Given the description of an element on the screen output the (x, y) to click on. 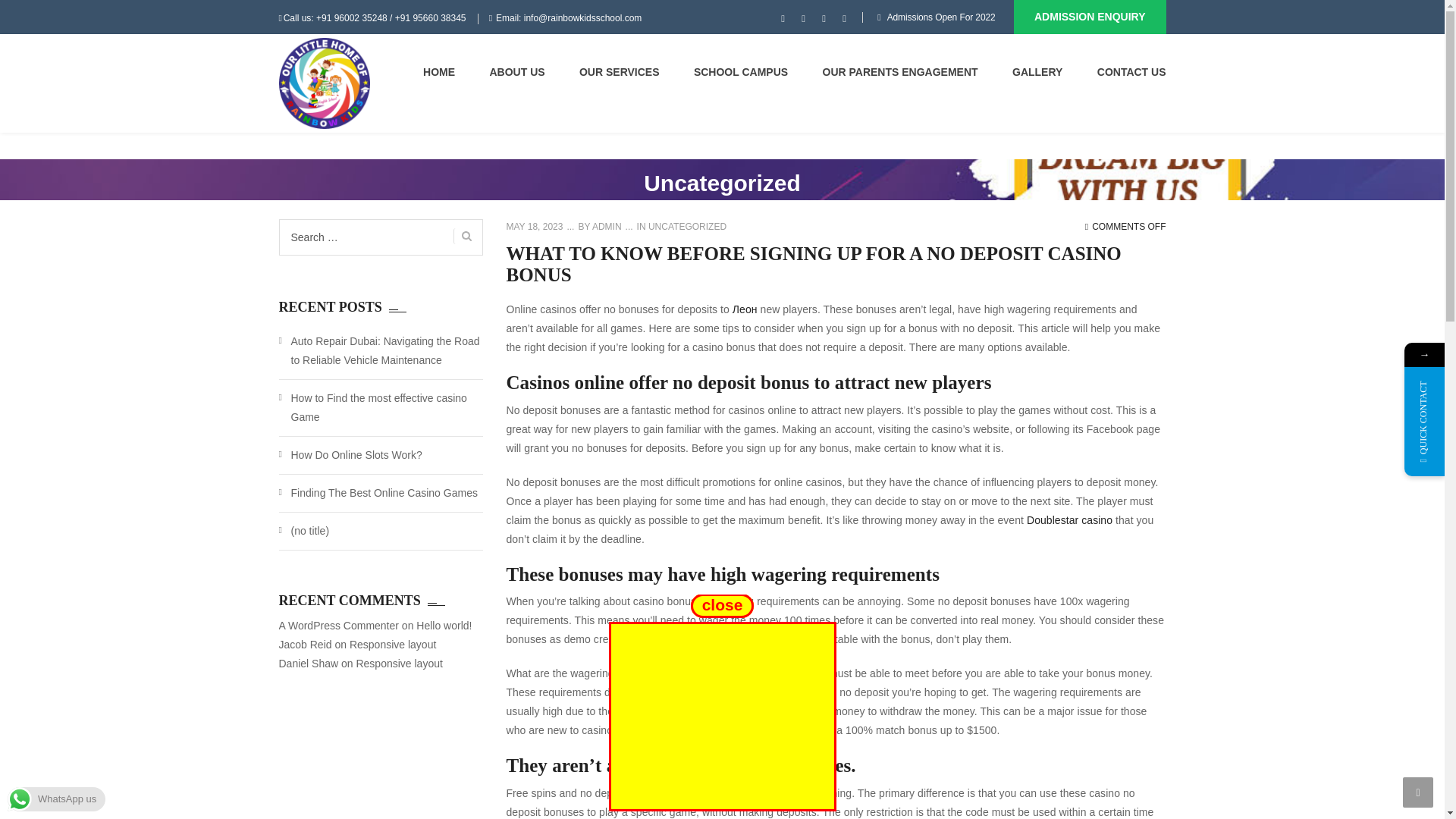
Search (461, 236)
Our Little Home of Rainbow Kids English School (324, 82)
ADMIN (605, 226)
View all posts by admin (605, 226)
Doublestar casino (1069, 520)
Search (461, 236)
OUR SERVICES (619, 71)
Search (1144, 126)
CONTACT US (1131, 71)
